Given the description of an element on the screen output the (x, y) to click on. 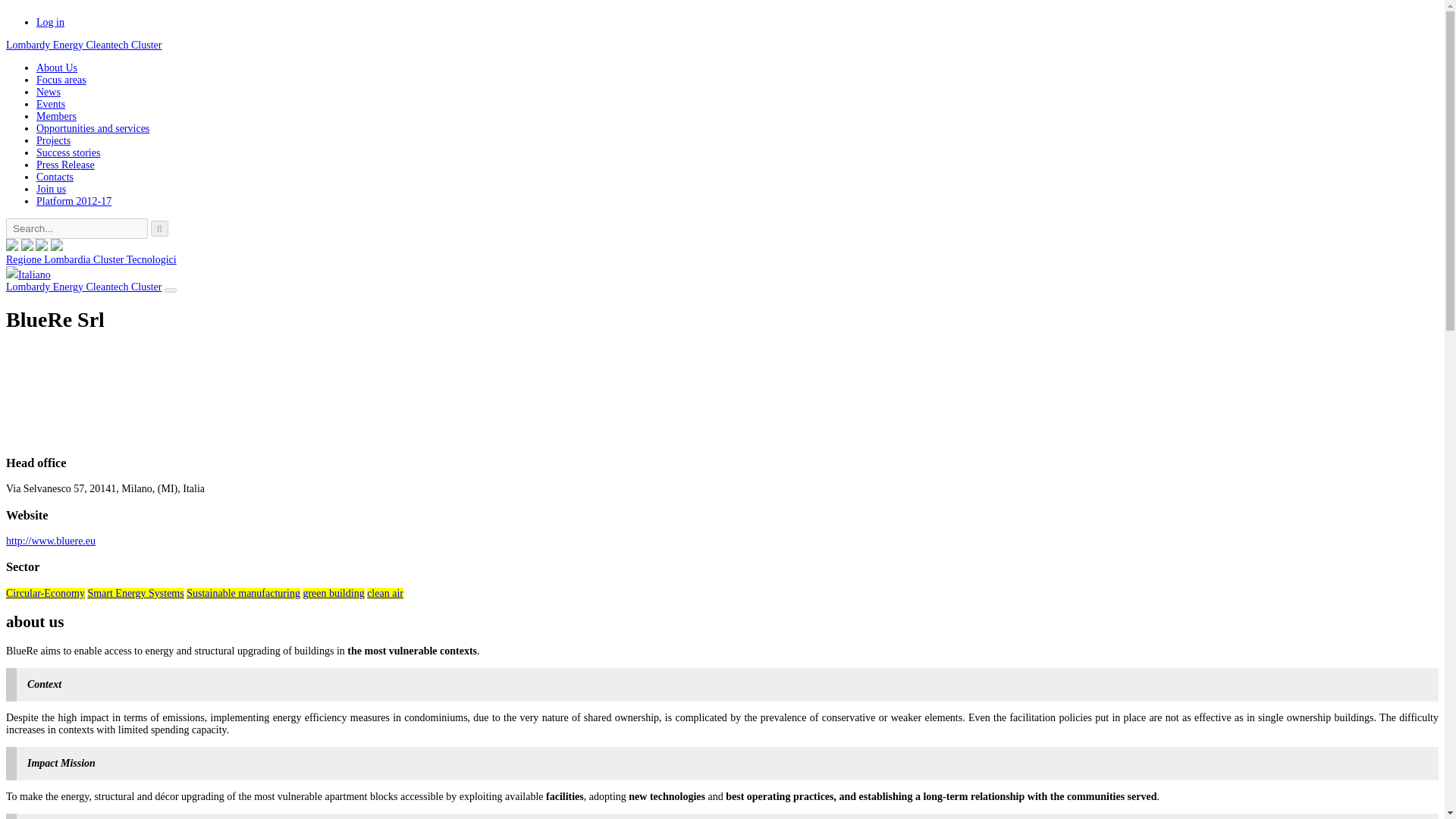
Platform 2012-17 (74, 201)
Italiano (27, 274)
Success stories (68, 152)
Members (56, 116)
Projects (52, 140)
Events (50, 103)
News (48, 91)
Log in (50, 21)
Opportunities and services (92, 128)
clean air (384, 593)
